Given the description of an element on the screen output the (x, y) to click on. 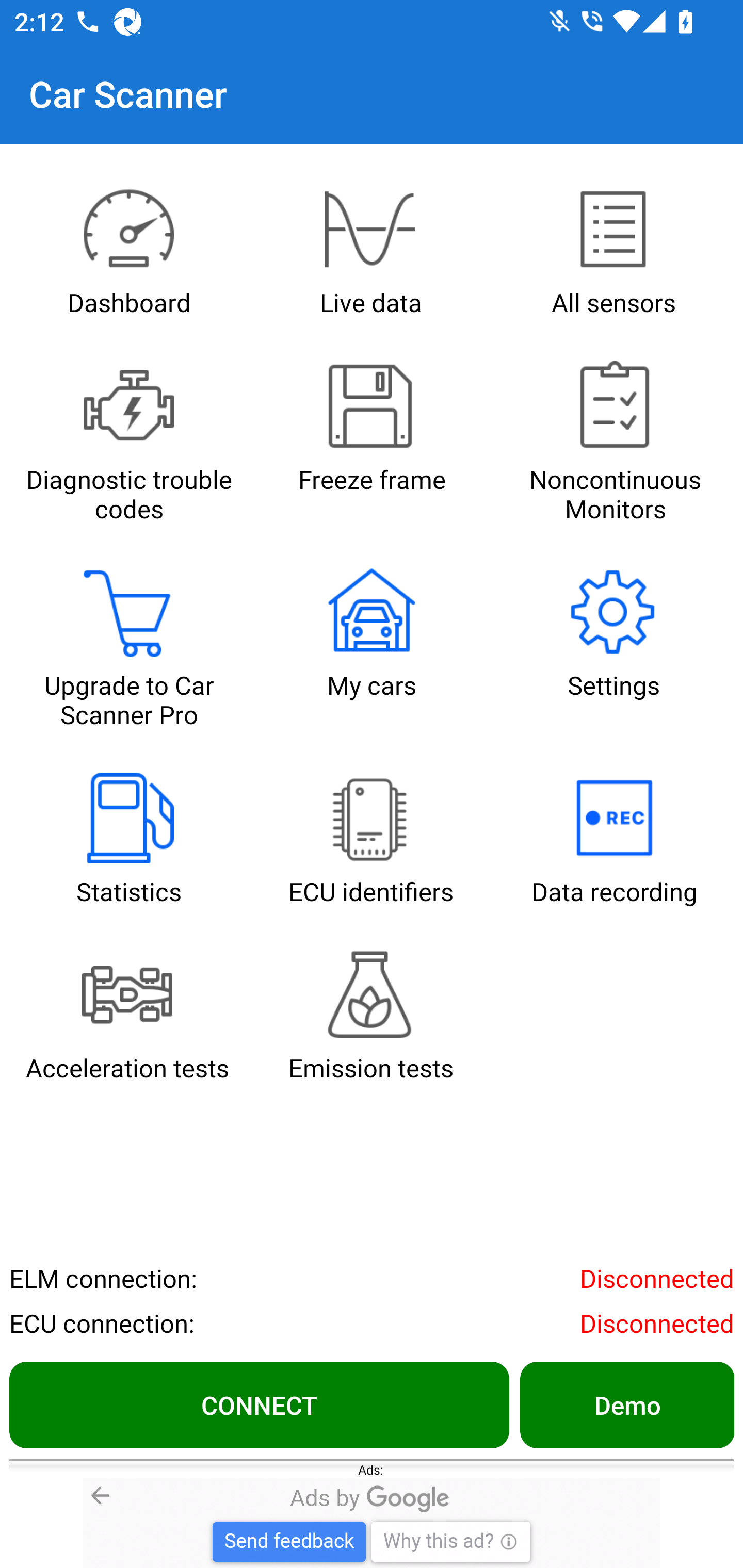
CONNECT (258, 1404)
Demo (627, 1404)
